Given the description of an element on the screen output the (x, y) to click on. 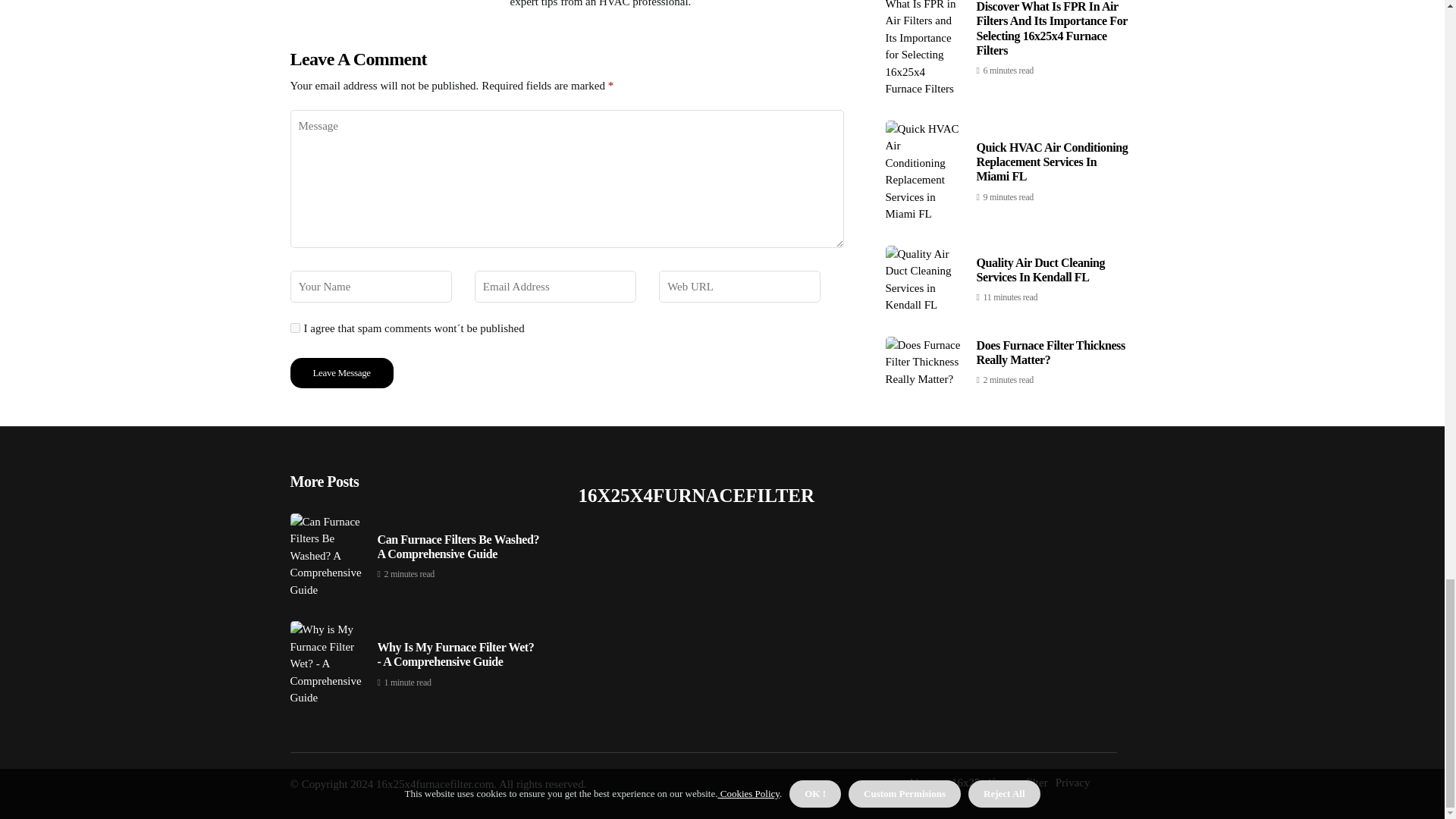
Leave Message (341, 372)
Leave Message (341, 372)
yes (294, 327)
